Given the description of an element on the screen output the (x, y) to click on. 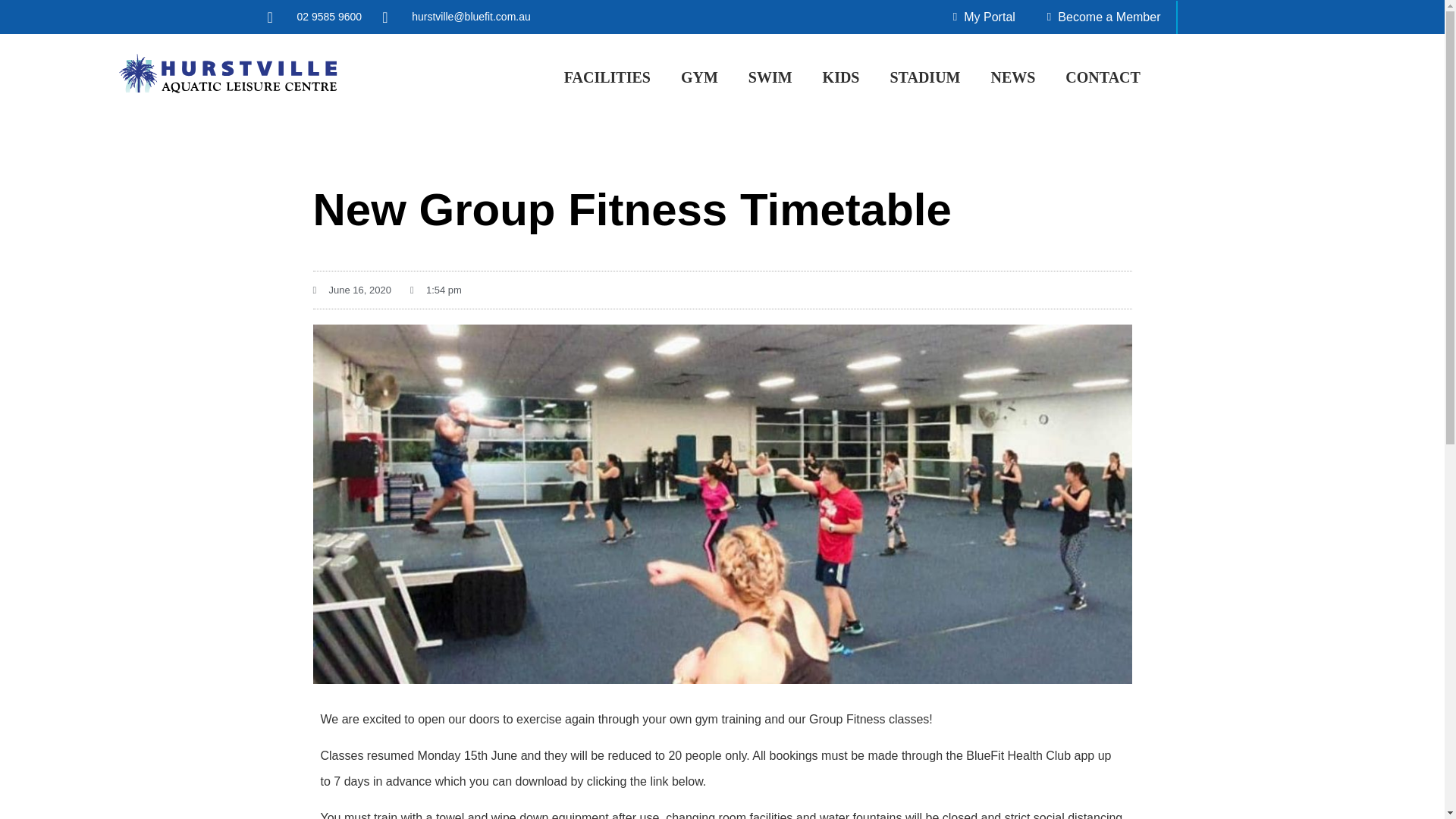
KIDS (840, 77)
SWIM (770, 77)
Become a Member (1104, 16)
FACILITIES (606, 77)
02 9585 9600 (313, 17)
GYM (699, 77)
My Portal (983, 16)
